Given the description of an element on the screen output the (x, y) to click on. 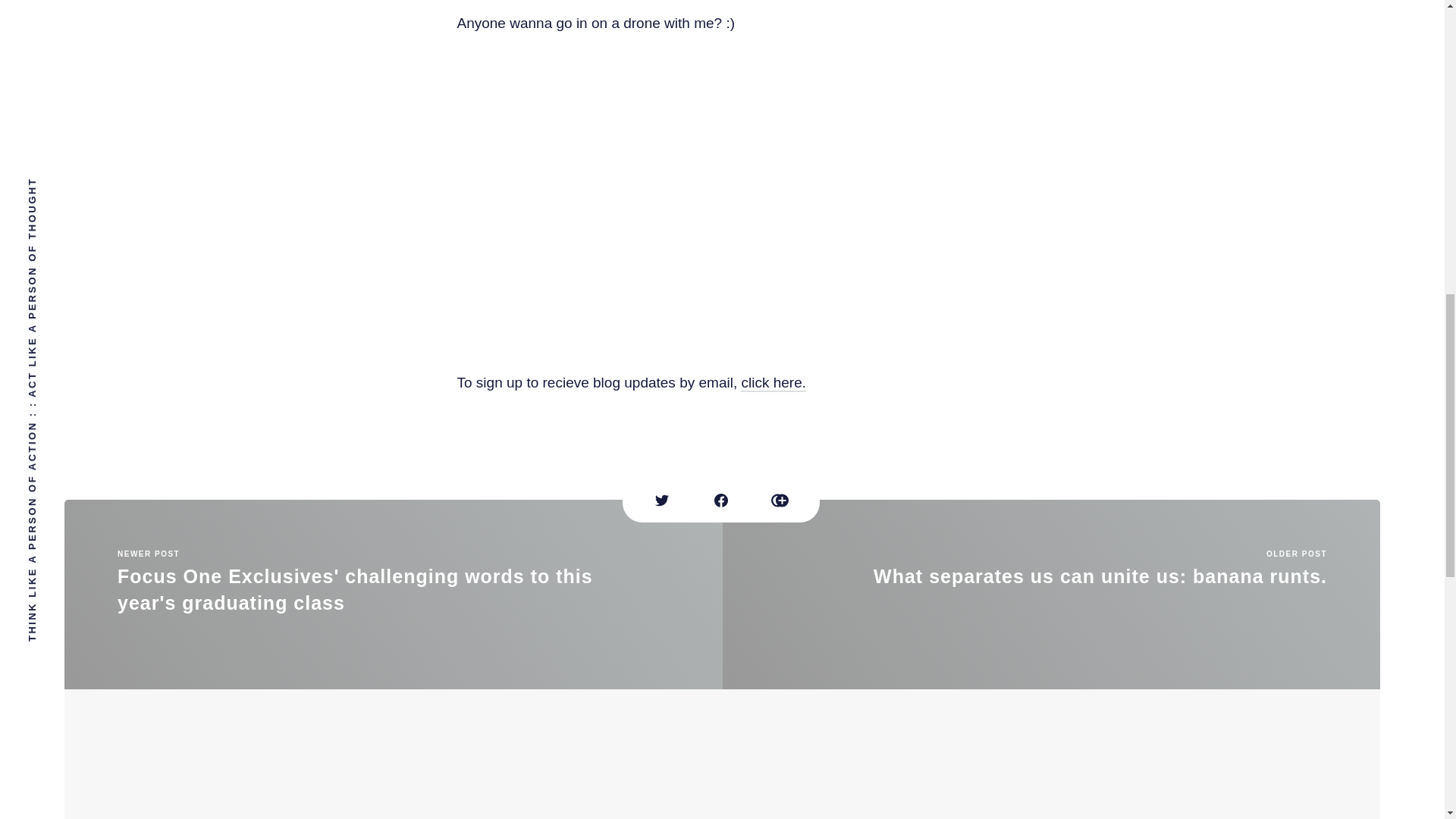
click here. (773, 383)
